Given the description of an element on the screen output the (x, y) to click on. 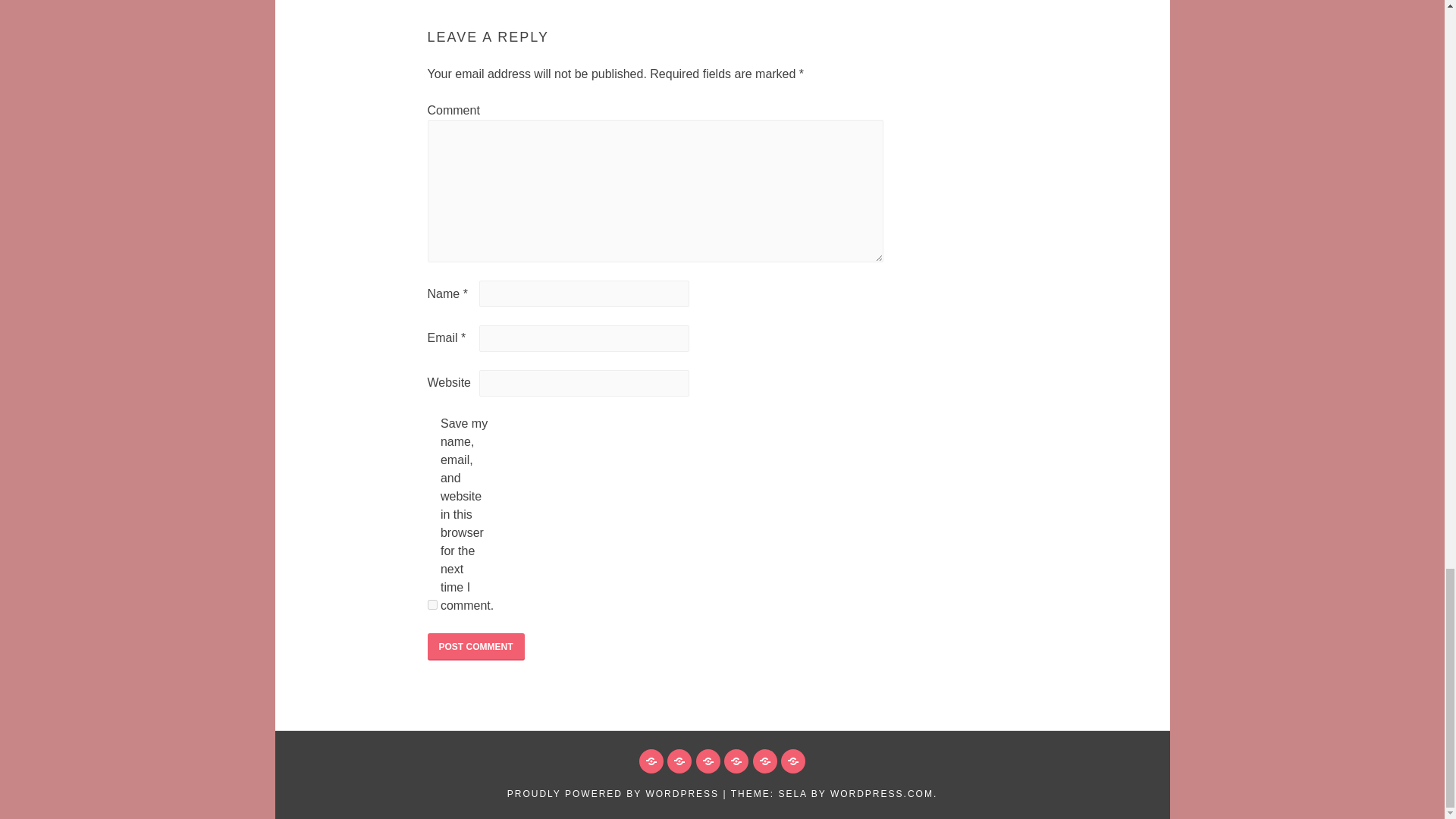
CONTACT US (735, 761)
WORDPRESS.COM (881, 793)
HOME (651, 761)
CONTACT US (792, 761)
yes (433, 604)
ABOUT US (678, 761)
FOODS (764, 761)
BLOG (707, 761)
PROUDLY POWERED BY WORDPRESS (612, 793)
Post Comment (476, 646)
A Semantic Personal Publishing Platform (612, 793)
Post Comment (476, 646)
